Given the description of an element on the screen output the (x, y) to click on. 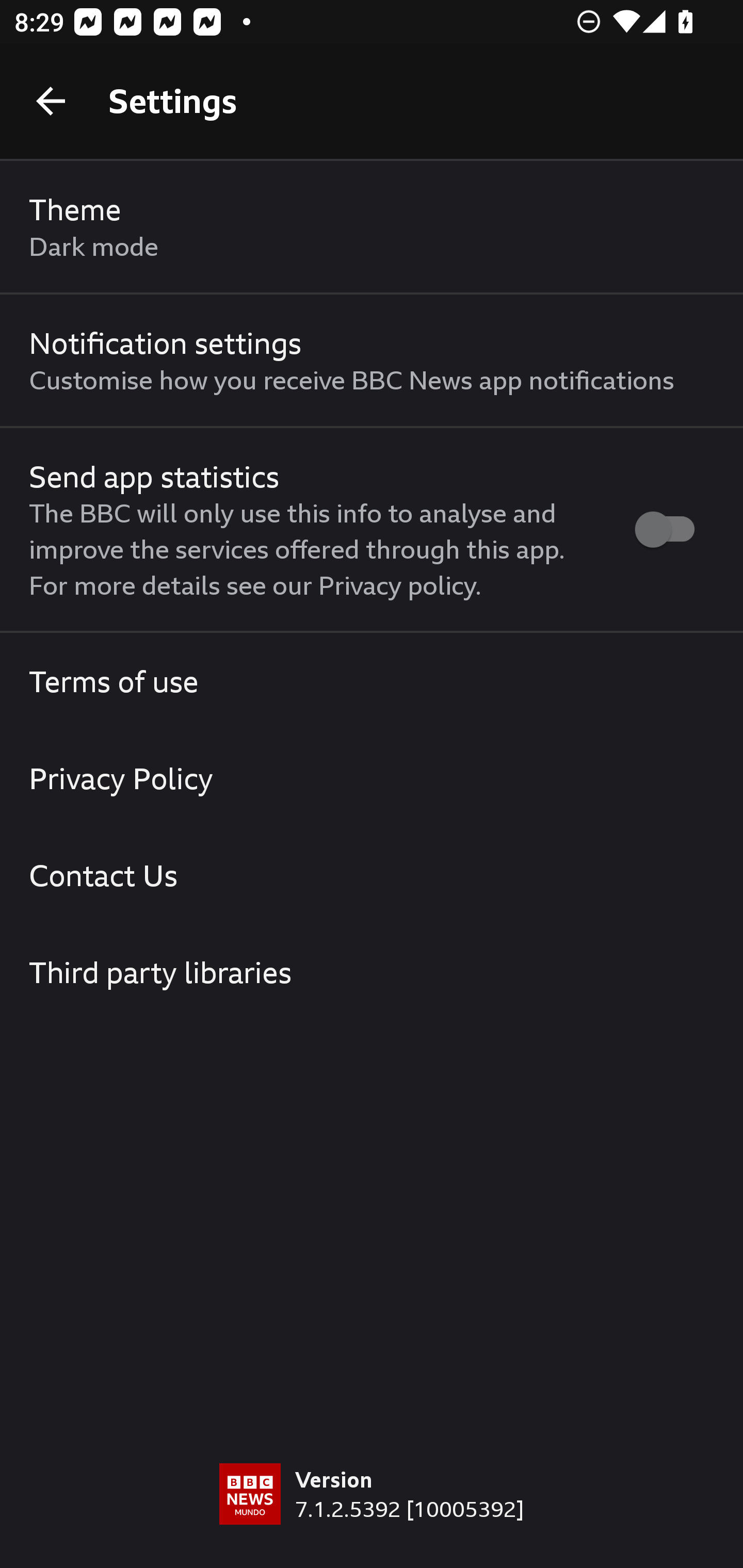
Back (50, 101)
Theme Dark mode (371, 227)
Terms of use (371, 681)
Privacy Policy (371, 777)
Contact Us (371, 874)
Third party libraries (371, 971)
Version 7.1.2.5392 [10005392] (371, 1515)
